Given the description of an element on the screen output the (x, y) to click on. 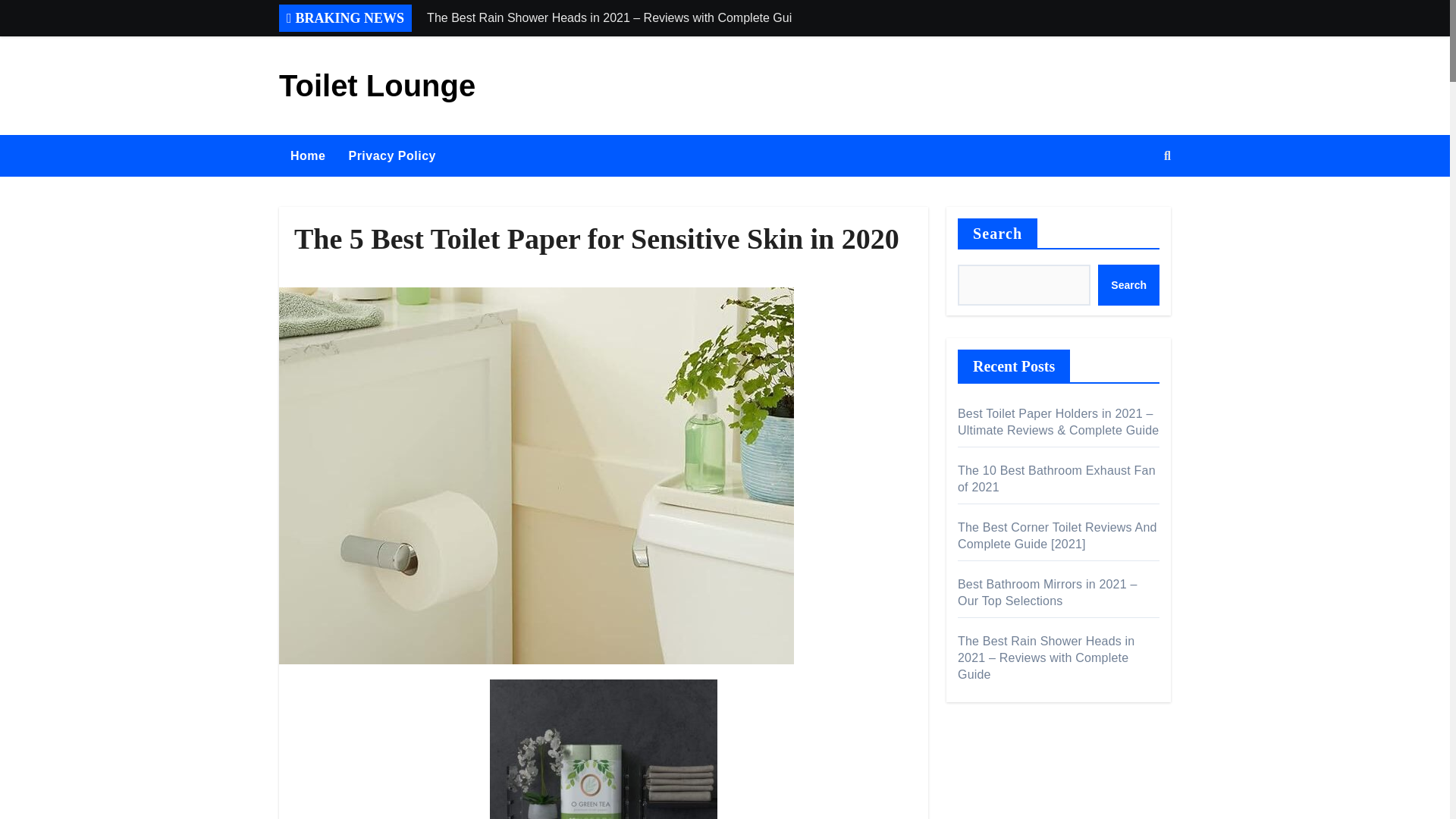
Toilet Lounge (377, 85)
Home (307, 155)
Home (307, 155)
Privacy Policy (391, 155)
